Given the description of an element on the screen output the (x, y) to click on. 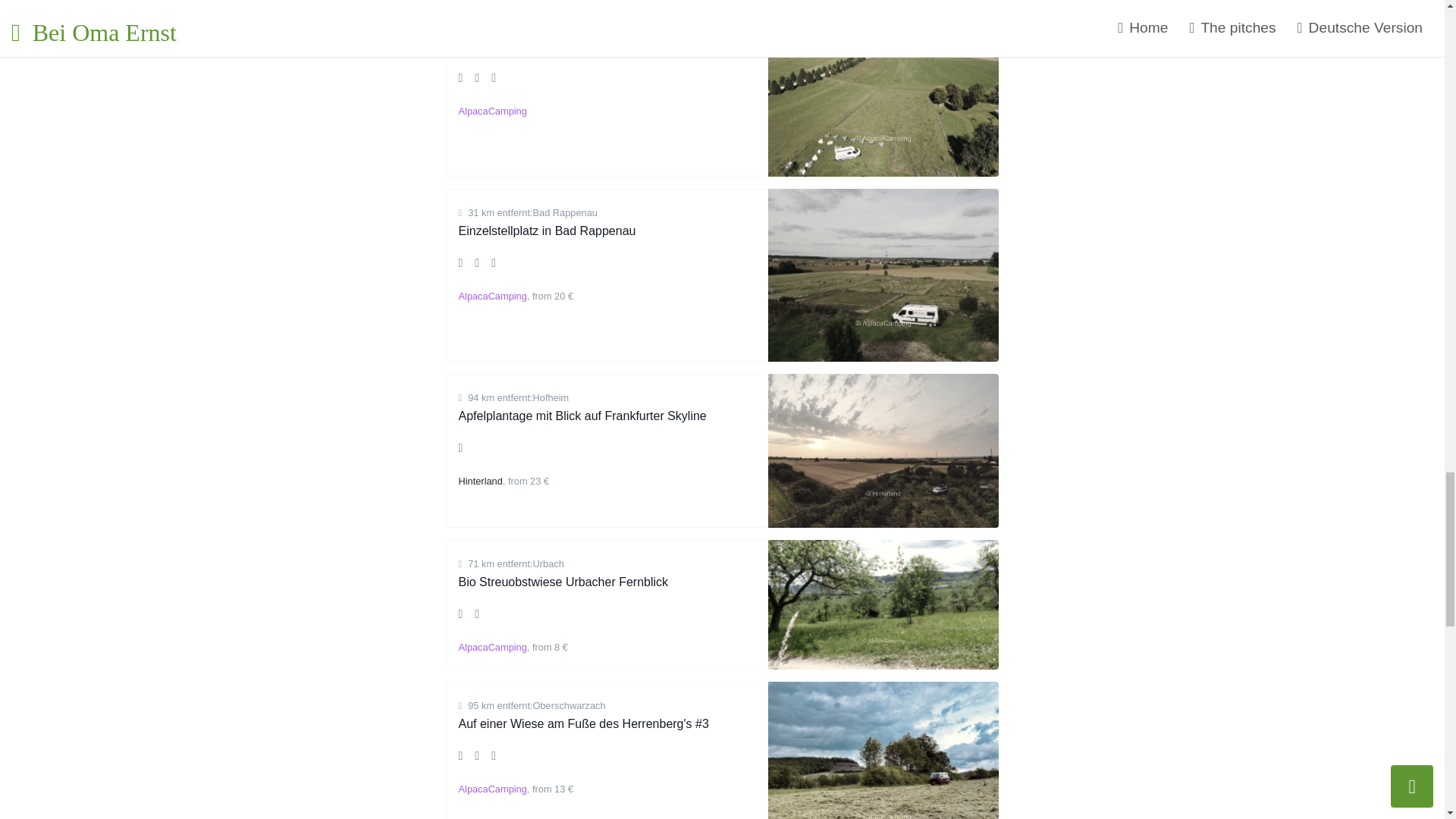
Einzelstellplatz in Bad Rappenau (546, 230)
Hinterland (480, 480)
AlpacaCamping (491, 646)
AlpacaCamping (491, 111)
AlpacaCamping (491, 296)
Bio Streuobstwiese Urbacher Fernblick (563, 581)
AlpacaCamping (491, 788)
Apfelplantage mit Blick auf Frankfurter Skyline (582, 415)
